Given the description of an element on the screen output the (x, y) to click on. 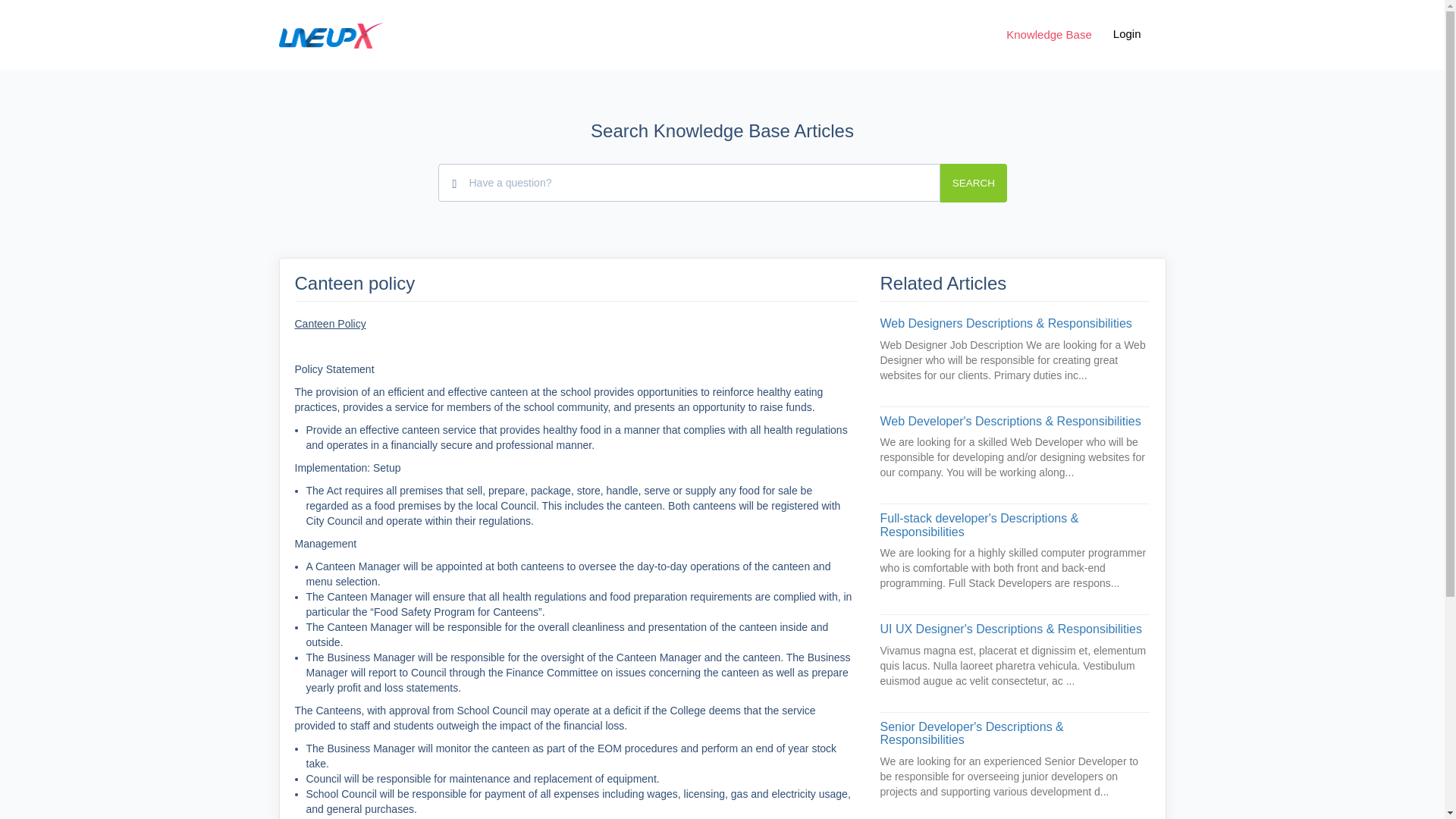
Knowledge Base (1048, 34)
SEARCH (973, 182)
Login (1126, 33)
